Given the description of an element on the screen output the (x, y) to click on. 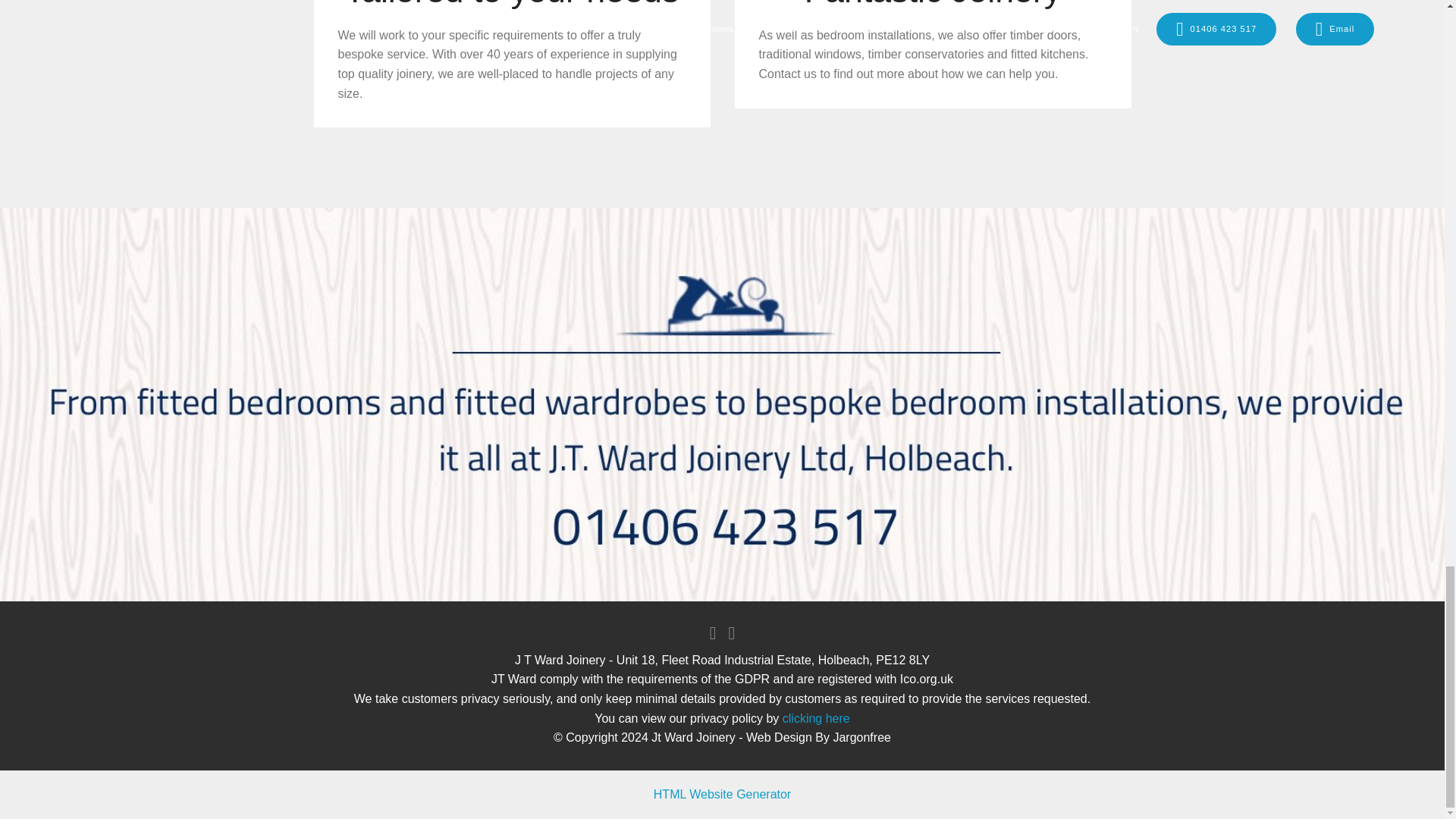
HTML Website Generator (721, 794)
clicking here (813, 717)
